Given the description of an element on the screen output the (x, y) to click on. 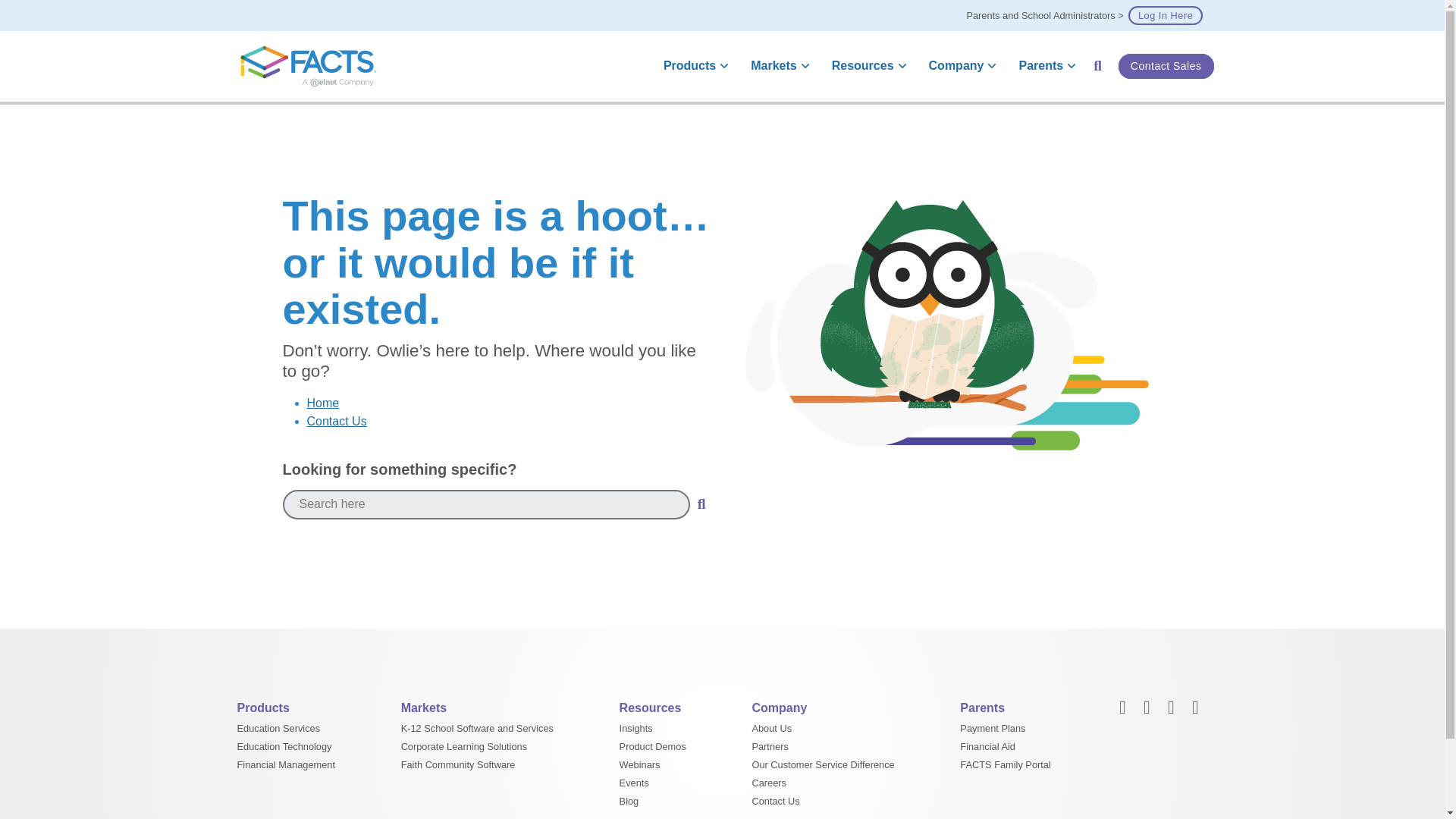
Company (960, 66)
Markets (776, 66)
Resources (866, 66)
Log In Here (1165, 15)
Products (692, 66)
